Given the description of an element on the screen output the (x, y) to click on. 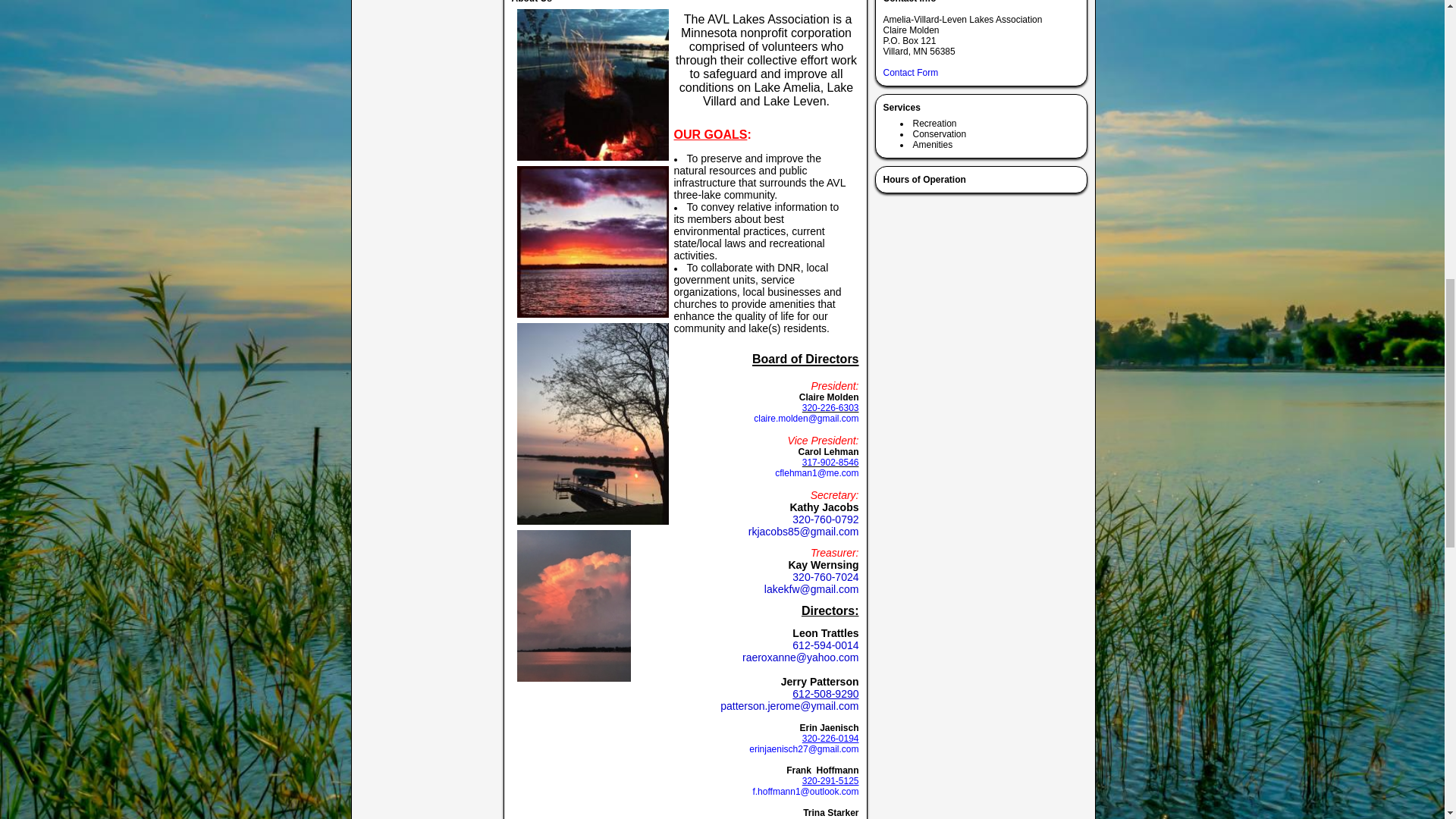
320-760-7024 (825, 576)
612-594-0014 (825, 645)
Contact Form (909, 72)
